Given the description of an element on the screen output the (x, y) to click on. 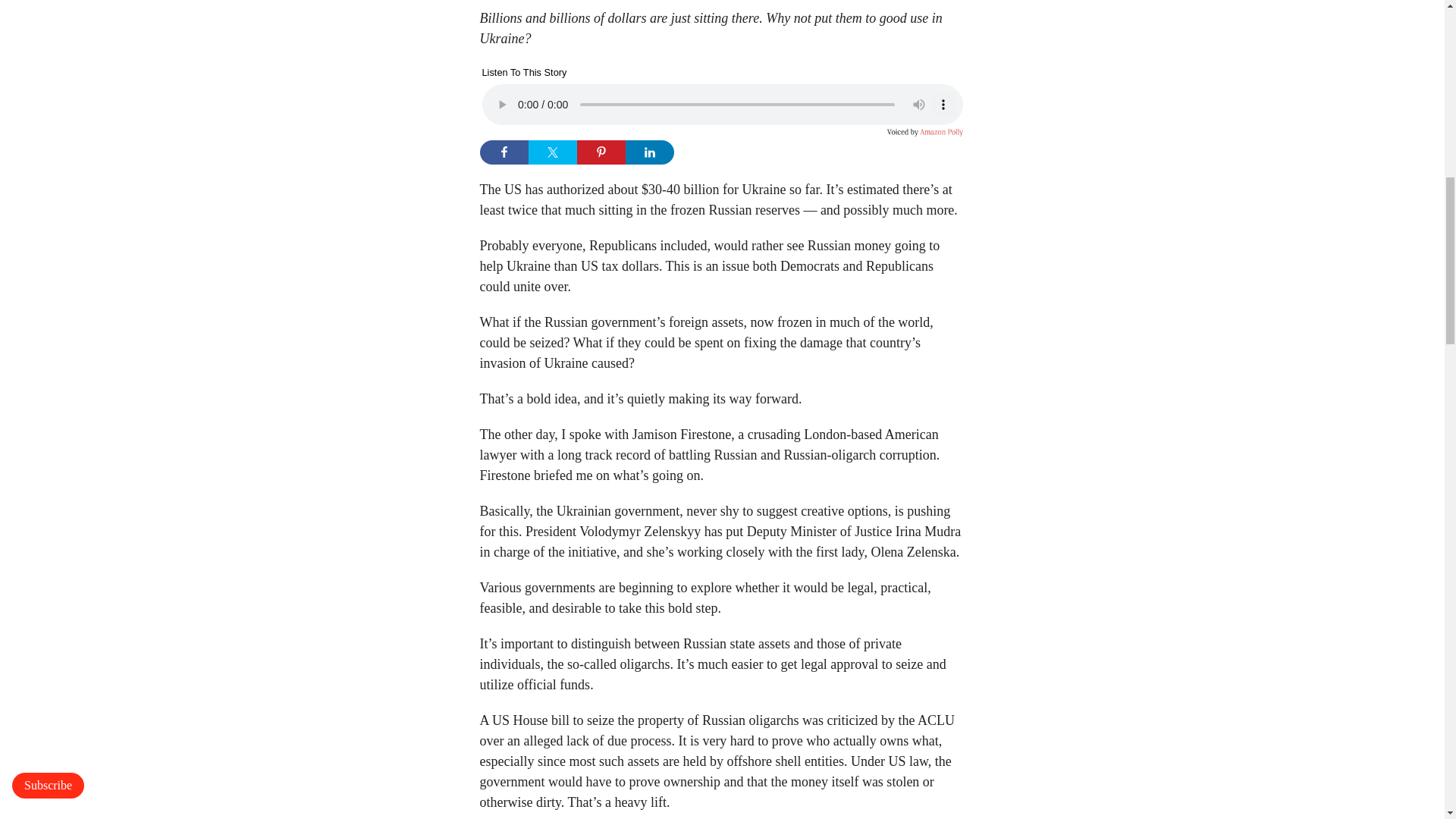
Share on Facebook (503, 151)
Share on Twitter (551, 151)
Share on Pinterest (600, 151)
Share on LinkedIn (648, 151)
